Given the description of an element on the screen output the (x, y) to click on. 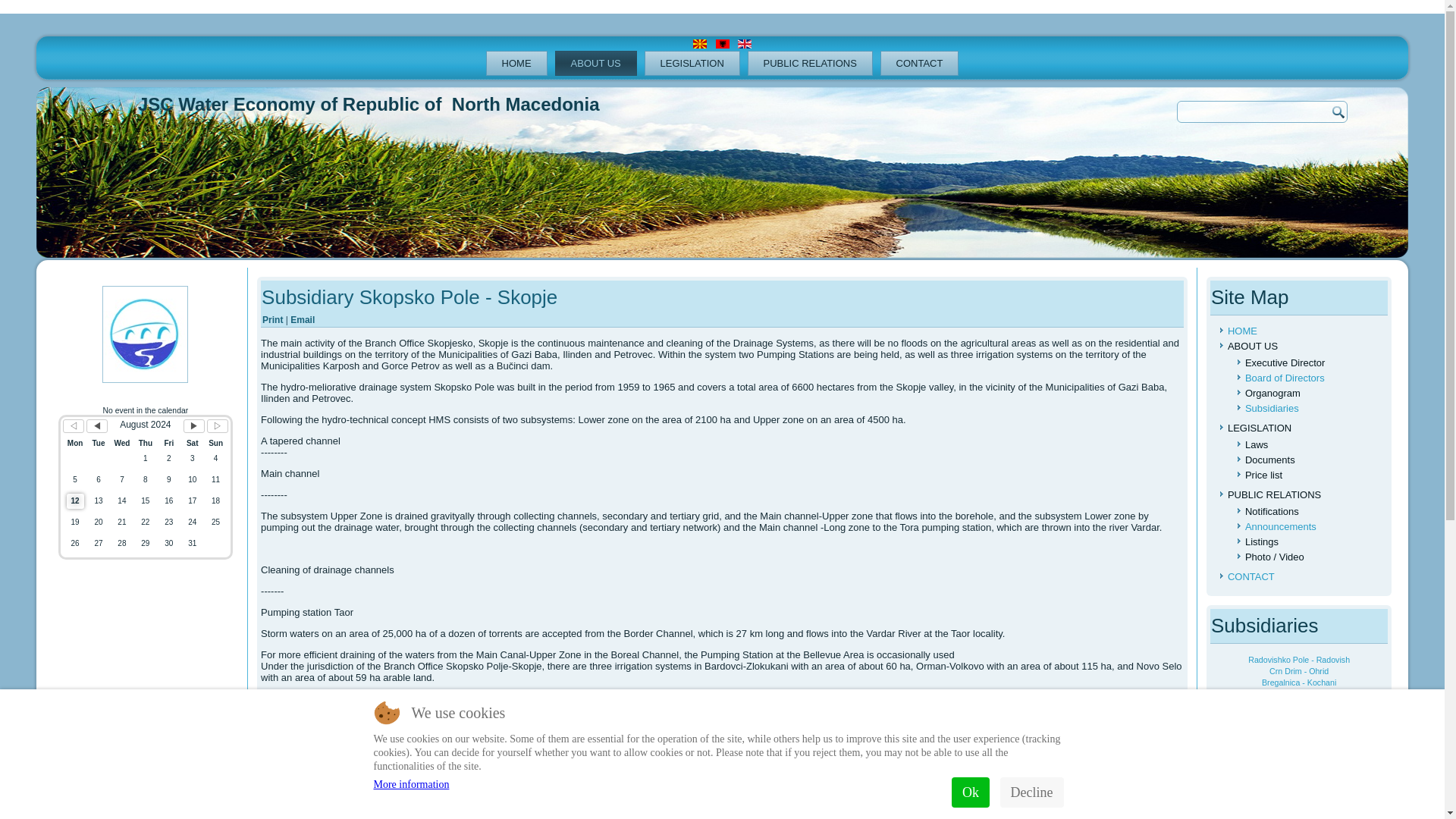
Print (273, 319)
Prilepsko Pole - Prilep (1299, 693)
LEGISLATION (692, 63)
Subsidiary Skopsko Pole - Skopje (409, 296)
CONTACT (919, 63)
Kumanovsko-Lipkovsko Pole - Kumanovo (1299, 716)
CONTACT (1251, 576)
 Subsidiary Strumichko Pole - Strumica (491, 794)
Subsidiaries (1271, 408)
HOME (1242, 330)
